Given the description of an element on the screen output the (x, y) to click on. 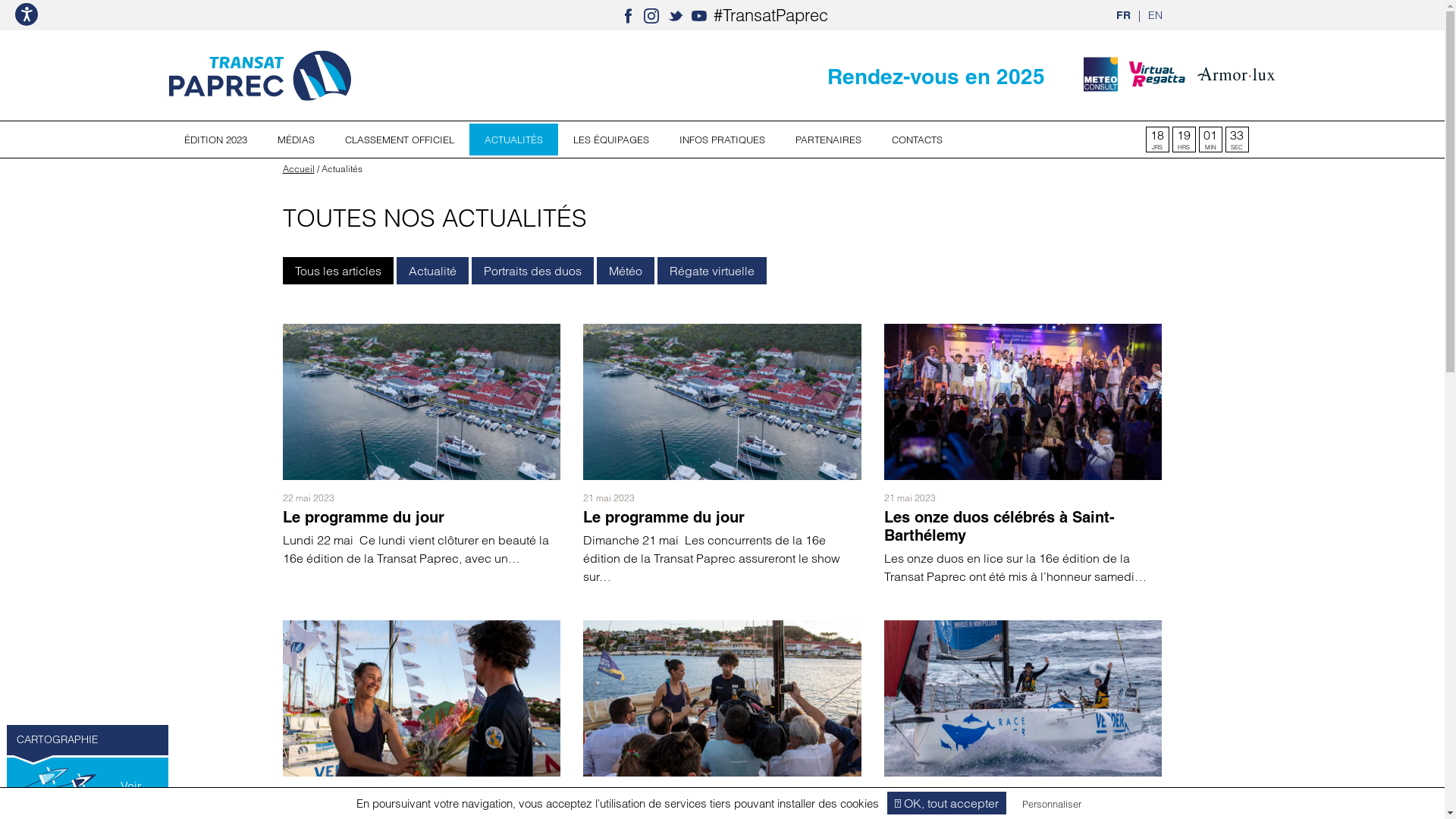
Facebook Element type: text (627, 14)
FR Element type: text (1123, 15)
Twitter Element type: text (675, 14)
CLASSEMENT OFFICIEL Element type: text (398, 139)
EN Element type: text (1155, 14)
CARTOGRAPHIE
Voir Element type: text (87, 768)
Personnaliser Element type: text (1051, 803)
PARTENAIRES Element type: text (827, 139)
Aller au contenu principal Element type: text (0, 0)
Instagram Element type: text (650, 14)
Accueil Element type: text (297, 168)
Youtube Element type: text (698, 14)
Le programme du jour Element type: text (362, 517)
Le programme du jour Element type: text (663, 517)
INFOS PRATIQUES Element type: text (722, 139)
Tous les articles Element type: text (337, 270)
Portraits des duos Element type: text (532, 270)
CONTACTS Element type: text (916, 139)
